Given the description of an element on the screen output the (x, y) to click on. 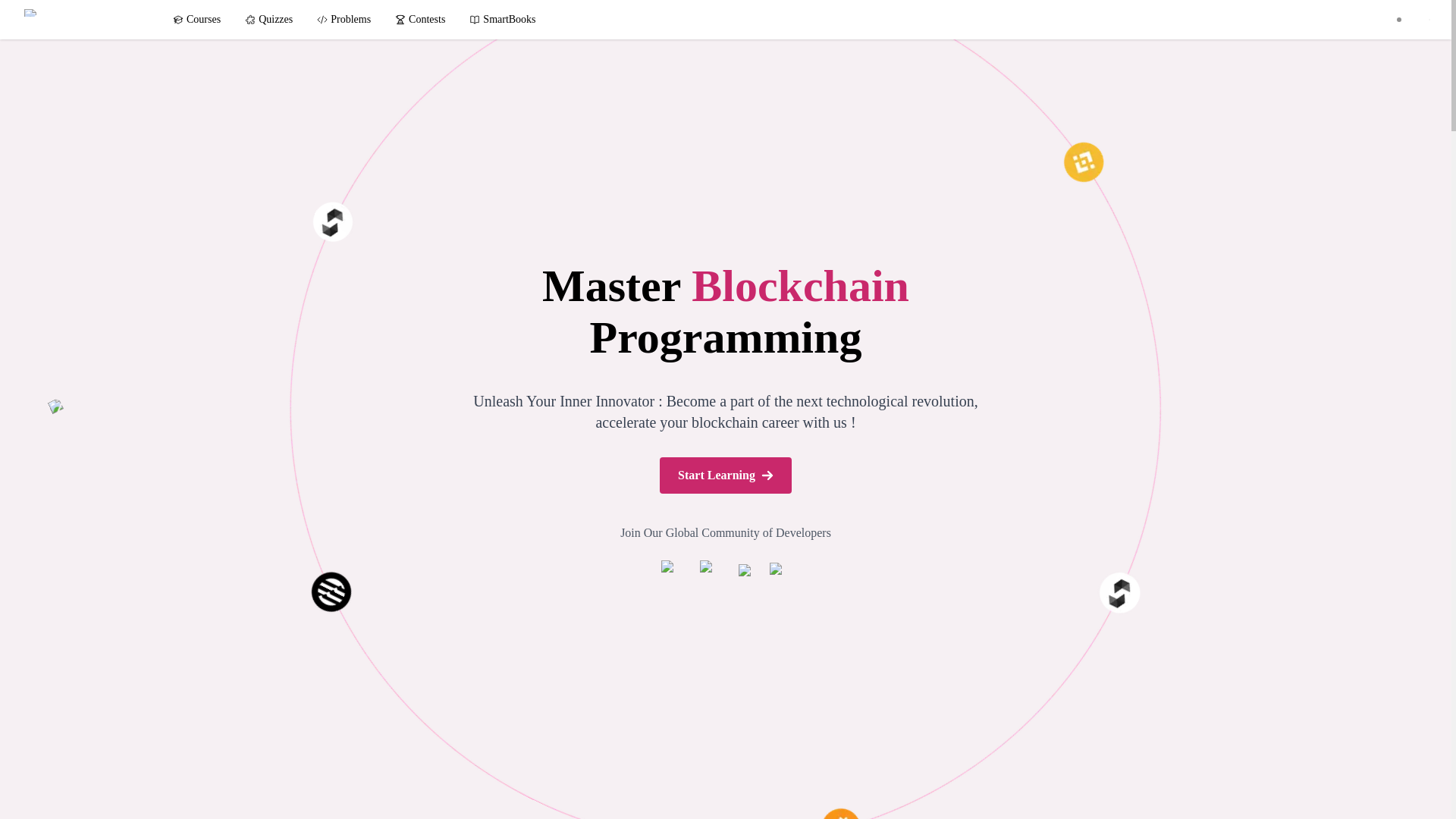
Problems (343, 19)
Courses (196, 19)
Quizzes (268, 19)
SmartBooks (502, 19)
Contests (419, 19)
Start Learning (725, 474)
